Given the description of an element on the screen output the (x, y) to click on. 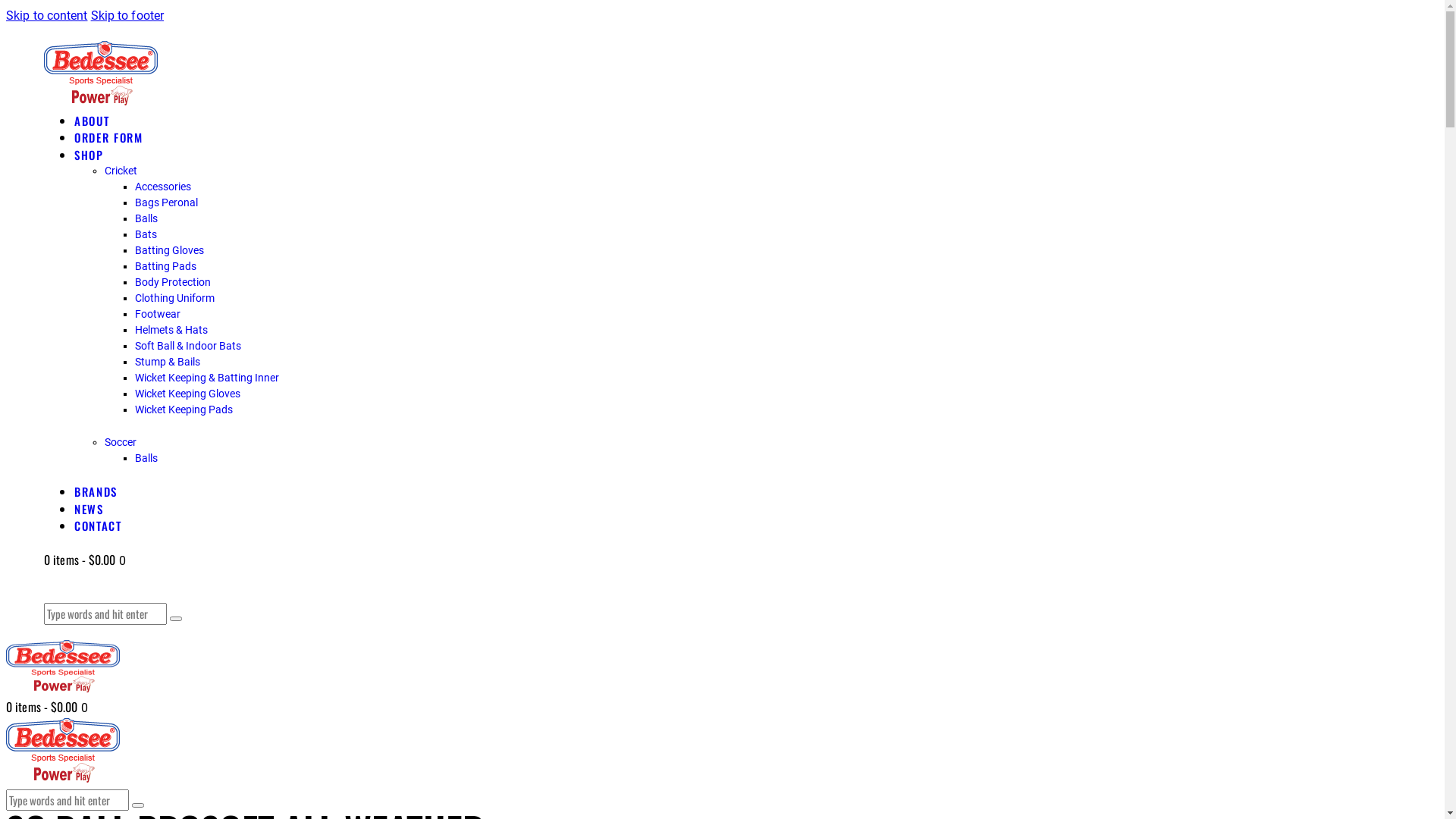
Skip to footer Element type: text (127, 15)
ABOUT Element type: text (91, 120)
Body Protection Element type: text (172, 282)
Helmets & Hats Element type: text (170, 329)
Bags Peronal Element type: text (165, 202)
Accessories Element type: text (162, 186)
Bats Element type: text (145, 234)
Clothing Uniform Element type: text (174, 297)
BRANDS Element type: text (95, 491)
NEWS Element type: text (88, 508)
Balls Element type: text (145, 457)
Soft Ball & Indoor Bats Element type: text (187, 345)
SHOP Element type: text (88, 154)
Stump & Bails Element type: text (167, 361)
Wicket Keeping Gloves Element type: text (187, 393)
Footwear Element type: text (157, 313)
CONTACT Element type: text (98, 525)
Wicket Keeping & Batting Inner Element type: text (206, 377)
ORDER FORM Element type: text (108, 136)
Batting Gloves Element type: text (168, 250)
Wicket Keeping Pads Element type: text (183, 409)
Balls Element type: text (145, 218)
Cricket Element type: text (120, 170)
Soccer Element type: text (120, 442)
Batting Pads Element type: text (165, 266)
Skip to content Element type: text (46, 15)
